Given the description of an element on the screen output the (x, y) to click on. 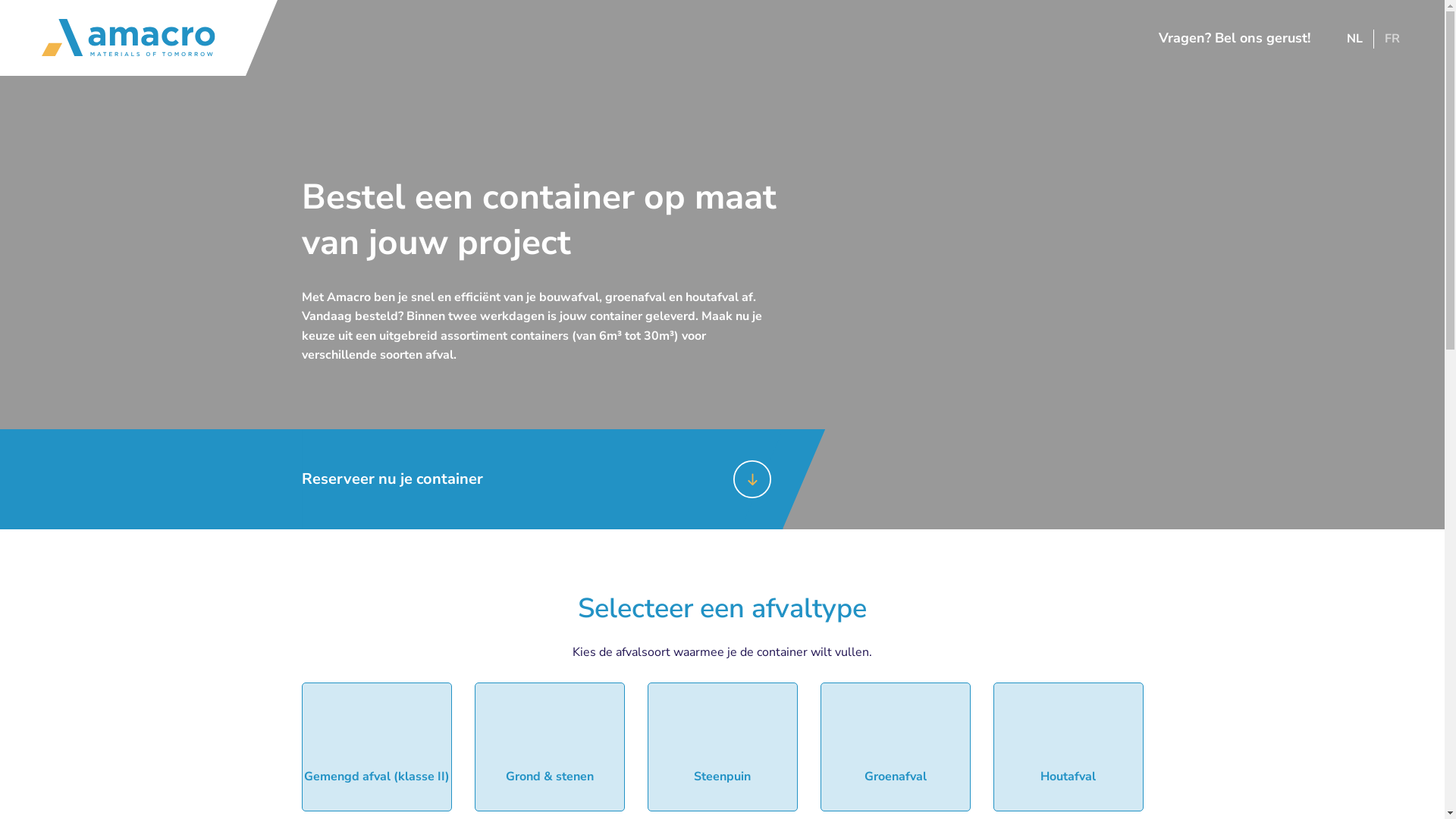
FR Element type: text (1392, 38)
Reserveer nu je container Element type: text (542, 479)
Overslaan en naar de inhoud gaan Element type: text (0, 0)
NL Element type: text (1354, 38)
Vragen? Bel ons gerust! Element type: text (1226, 38)
